Given the description of an element on the screen output the (x, y) to click on. 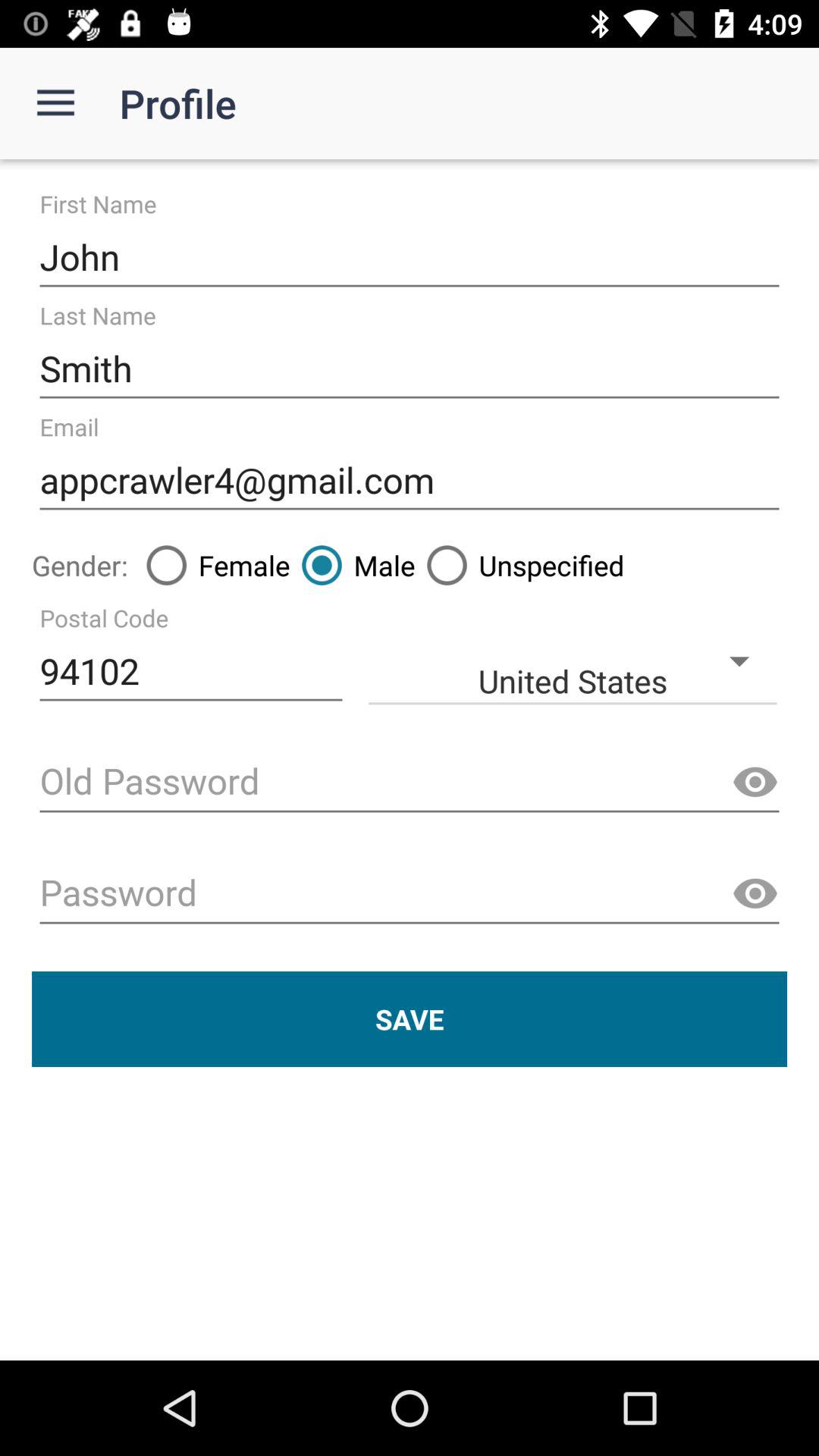
launch icon above 94102 (212, 565)
